Given the description of an element on the screen output the (x, y) to click on. 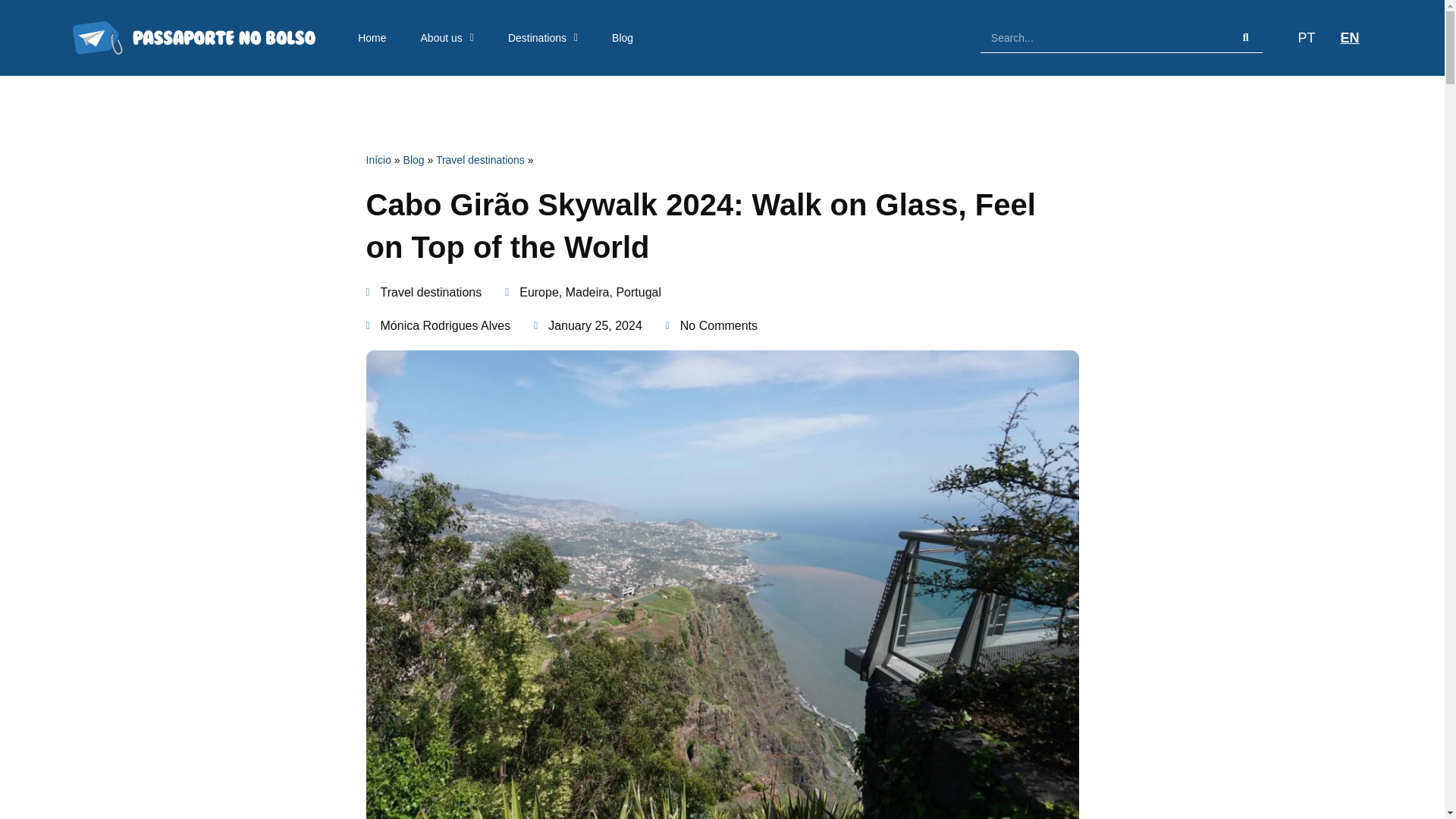
About us (446, 37)
PT (1302, 37)
Destinations (541, 37)
Home (371, 37)
Blog (622, 37)
EN (1345, 37)
